Given the description of an element on the screen output the (x, y) to click on. 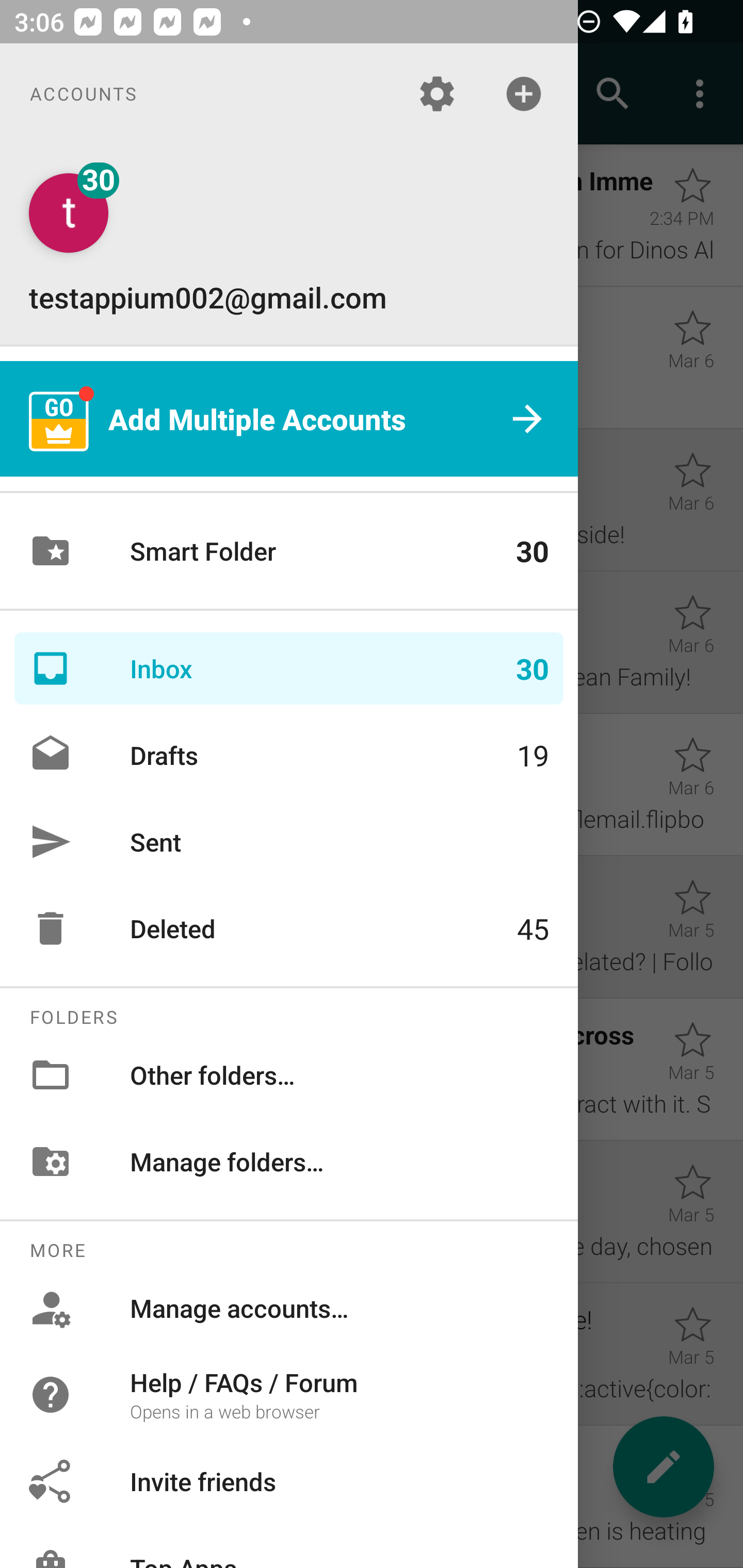
testappium002@gmail.com (289, 244)
Add Multiple Accounts (289, 418)
Smart Folder 30 (289, 551)
Inbox 30 (289, 668)
Drafts 19 (289, 754)
Sent (289, 841)
Deleted 45 (289, 928)
Other folders… (289, 1074)
Manage folders… (289, 1160)
Manage accounts… (289, 1308)
Help / FAQs / Forum Opens in a web browser (289, 1394)
Invite friends (289, 1480)
